Given the description of an element on the screen output the (x, y) to click on. 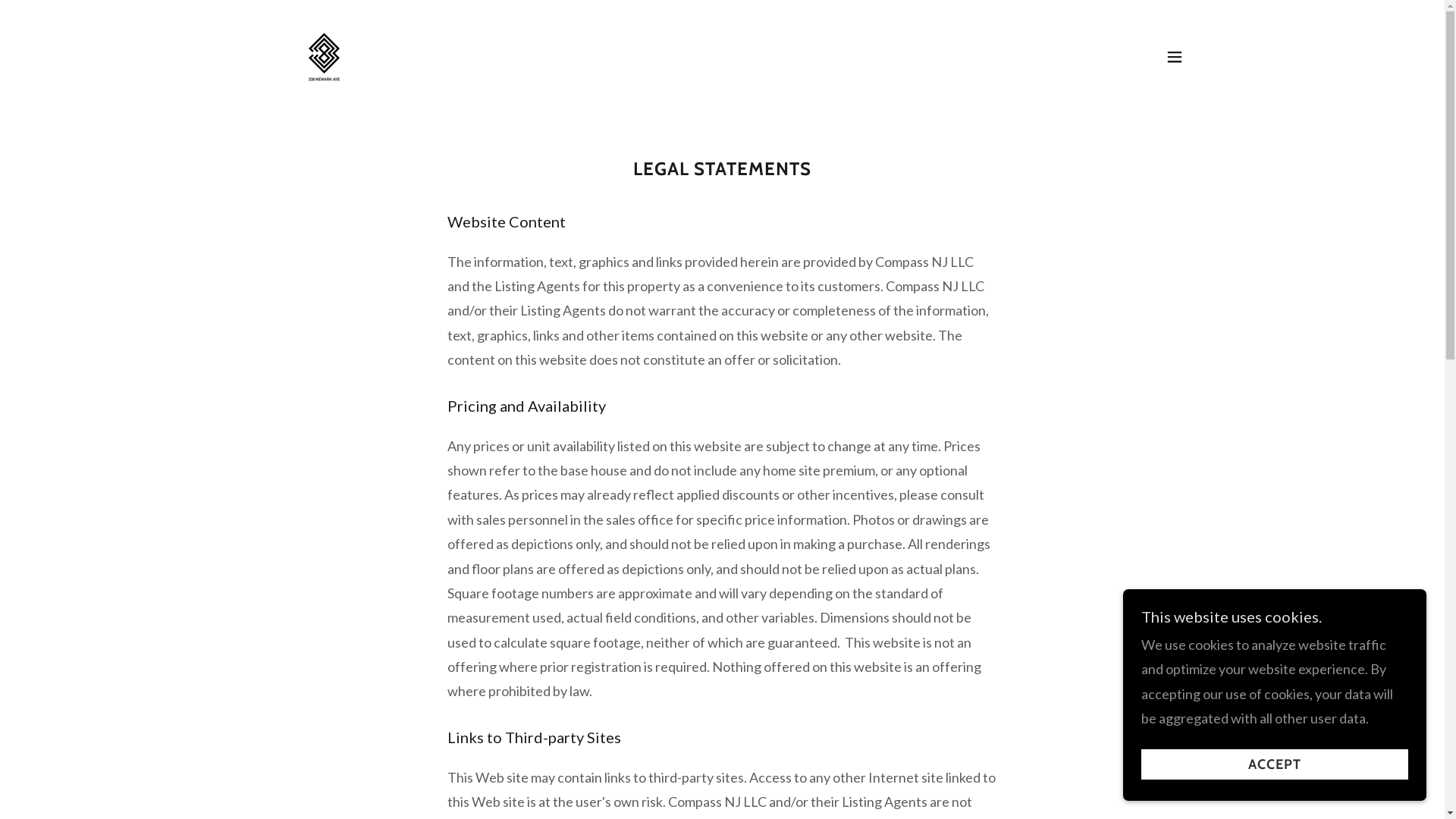
338newarkjc Element type: hover (323, 55)
ACCEPT Element type: text (1274, 764)
